Given the description of an element on the screen output the (x, y) to click on. 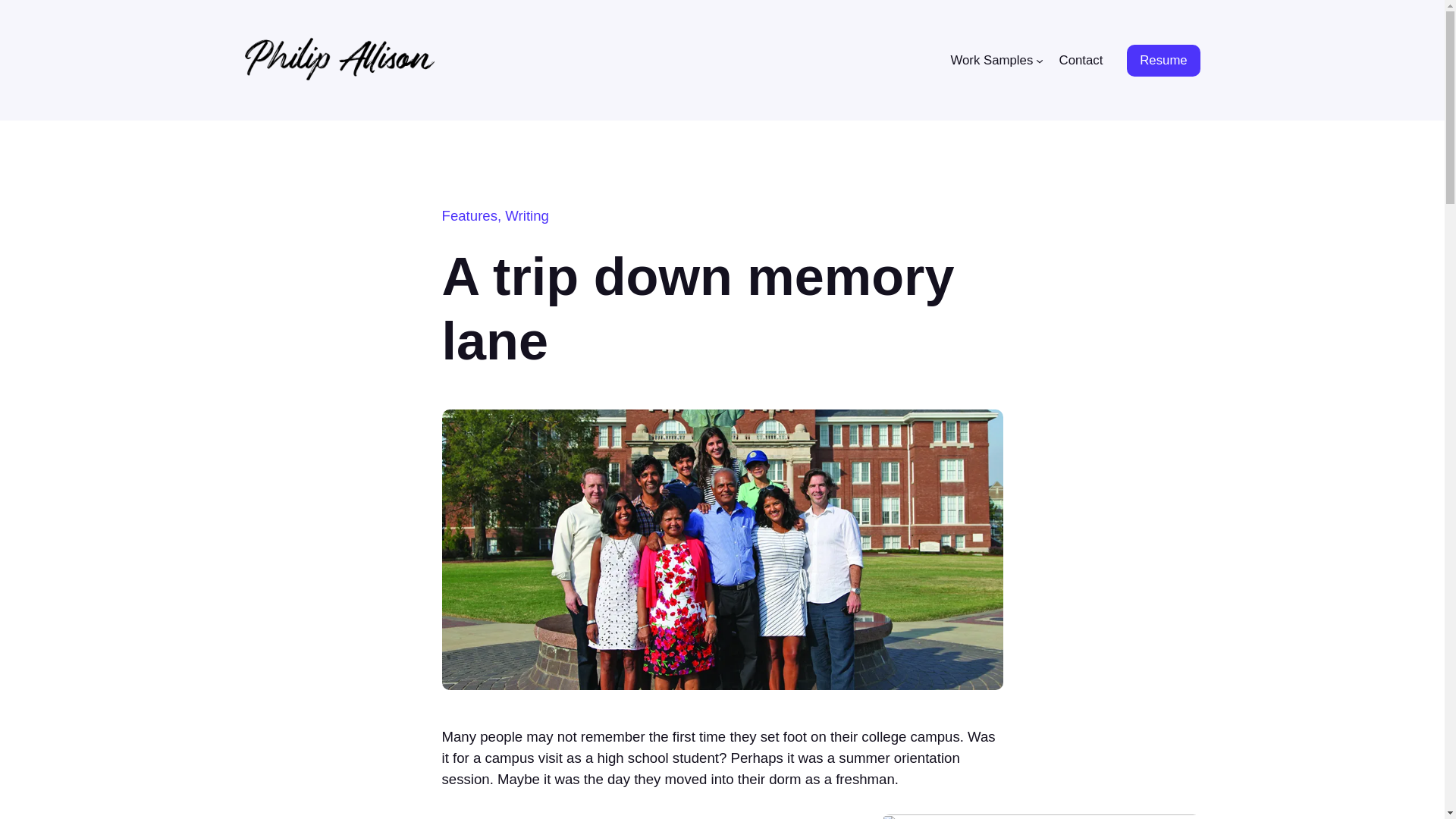
Work Samples (991, 59)
Contact (1081, 59)
Writing (526, 215)
Resume (1162, 60)
Features (469, 215)
